Given the description of an element on the screen output the (x, y) to click on. 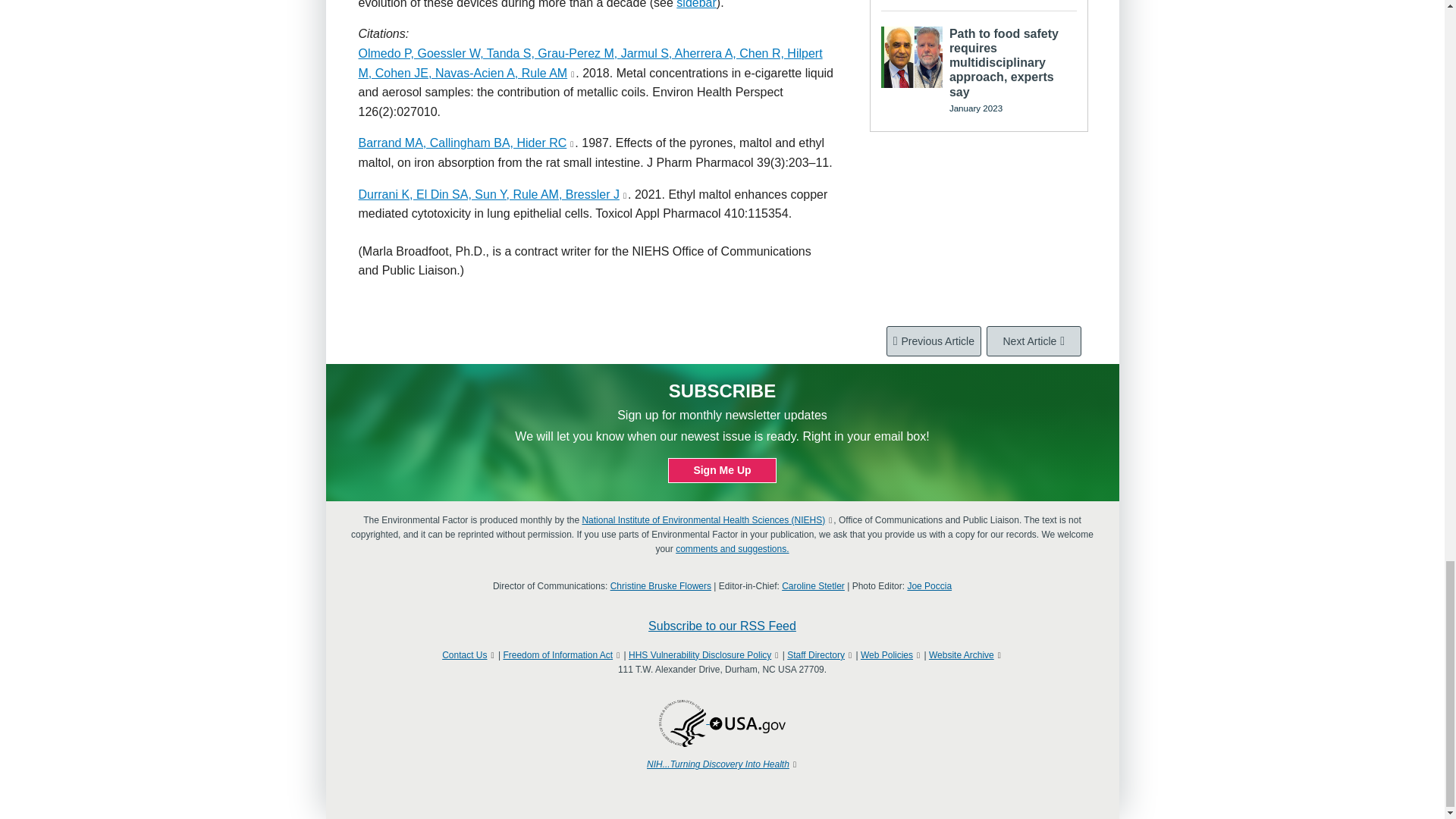
Freedom of Information Act (557, 655)
Contact Us (464, 655)
Barrand MA, Callingham BA, Hider RC (462, 142)
Durrani K, El Din SA, Sun Y, Rule AM, Bressler J (488, 194)
Previous Article (933, 340)
sidebar (696, 4)
